Given the description of an element on the screen output the (x, y) to click on. 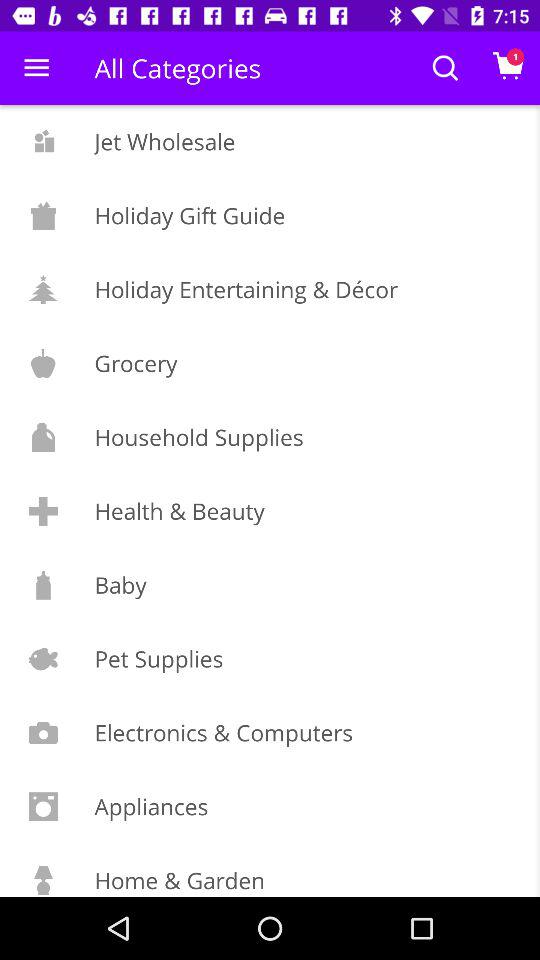
turn off the item next to the all categories icon (36, 68)
